Given the description of an element on the screen output the (x, y) to click on. 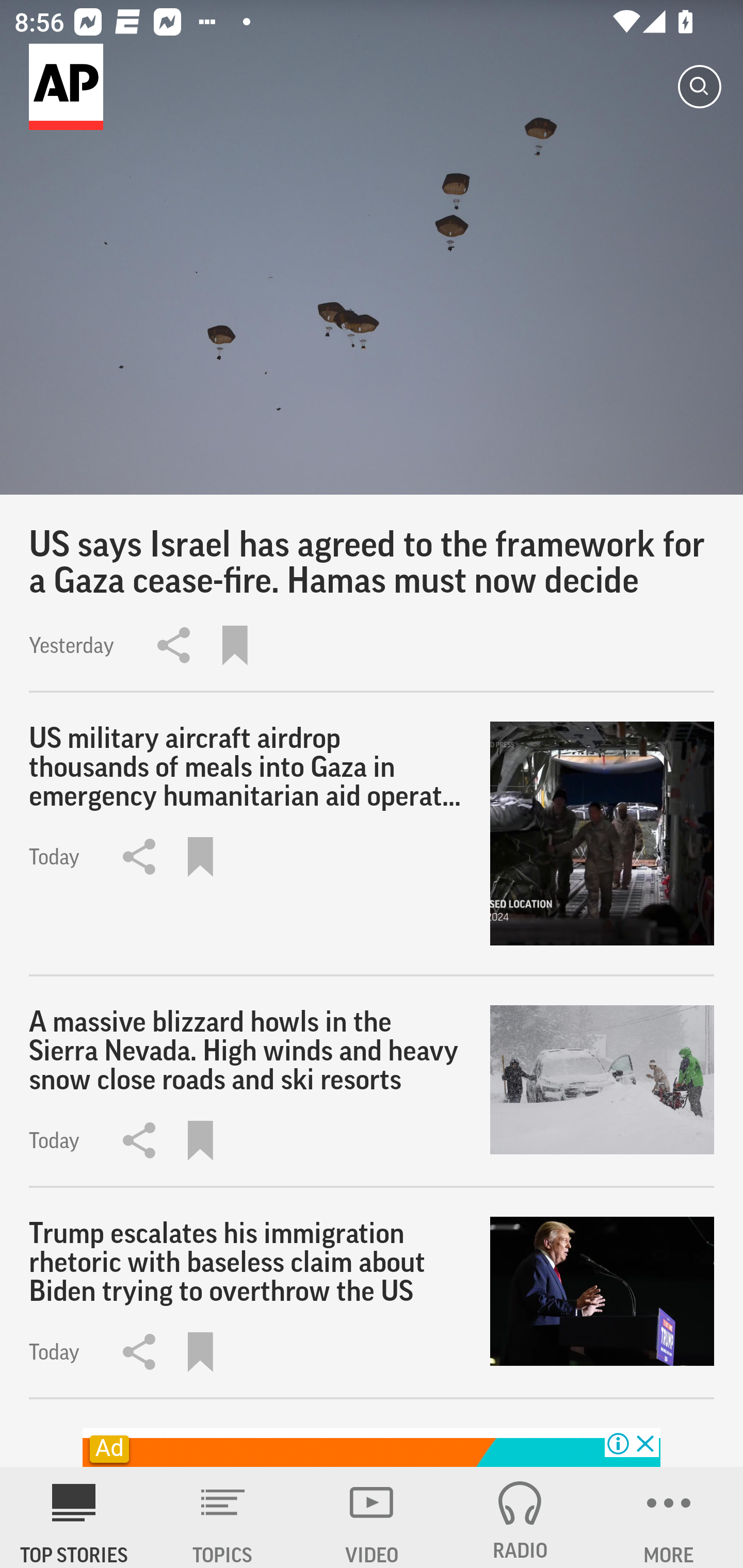
AP News TOP STORIES (74, 1517)
TOPICS (222, 1517)
VIDEO (371, 1517)
RADIO (519, 1517)
MORE (668, 1517)
